Given the description of an element on the screen output the (x, y) to click on. 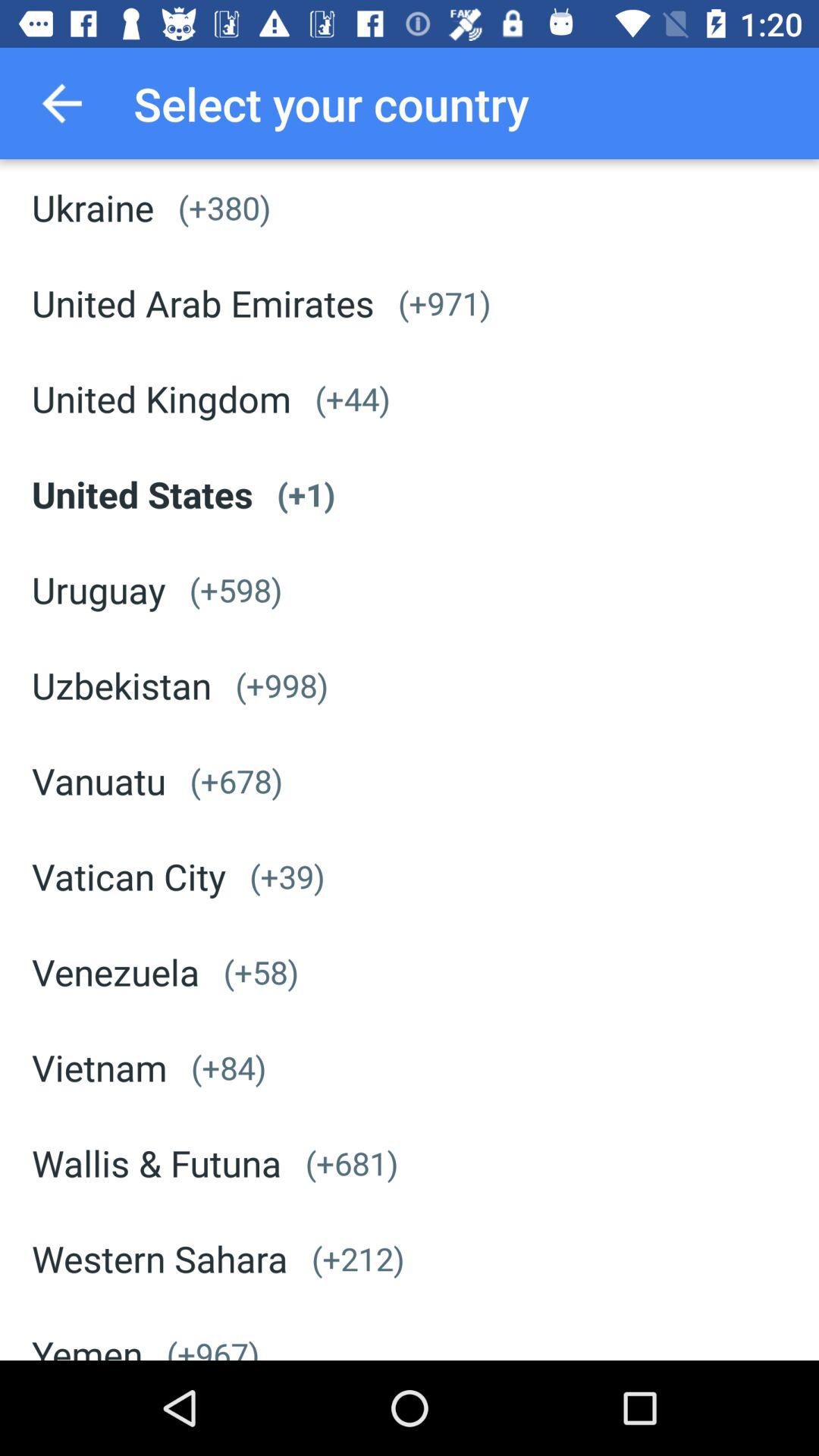
open item to the left of the select your country app (61, 103)
